Given the description of an element on the screen output the (x, y) to click on. 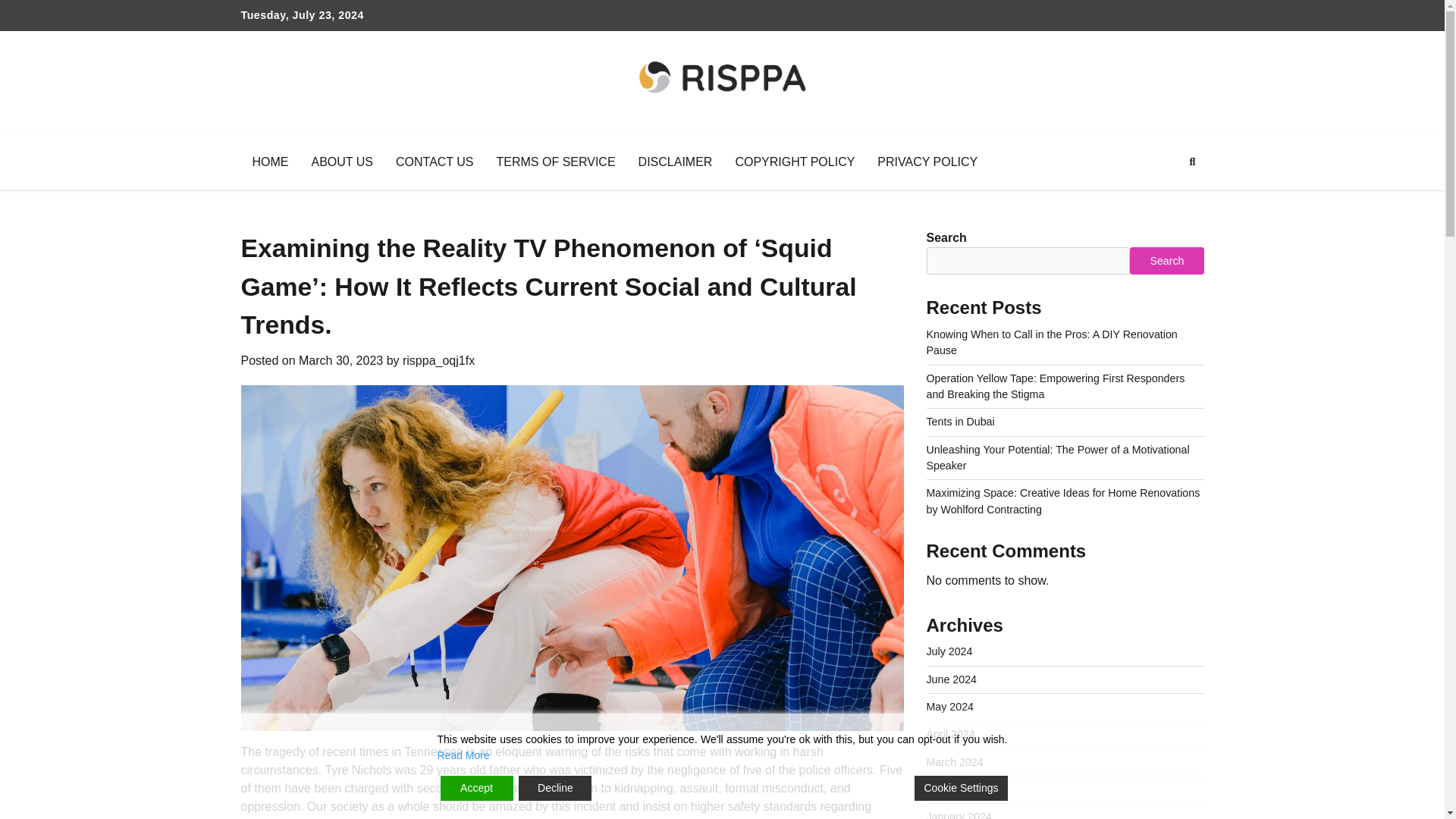
Search (1166, 260)
March 2024 (955, 761)
PRIVACY POLICY (927, 161)
March 30, 2023 (340, 359)
June 2024 (951, 679)
Search (1192, 161)
April 2024 (950, 734)
May 2024 (950, 706)
Search (1164, 197)
July 2024 (949, 651)
HOME (270, 161)
COPYRIGHT POLICY (794, 161)
Tents in Dubai (960, 421)
CONTACT US (434, 161)
